Given the description of an element on the screen output the (x, y) to click on. 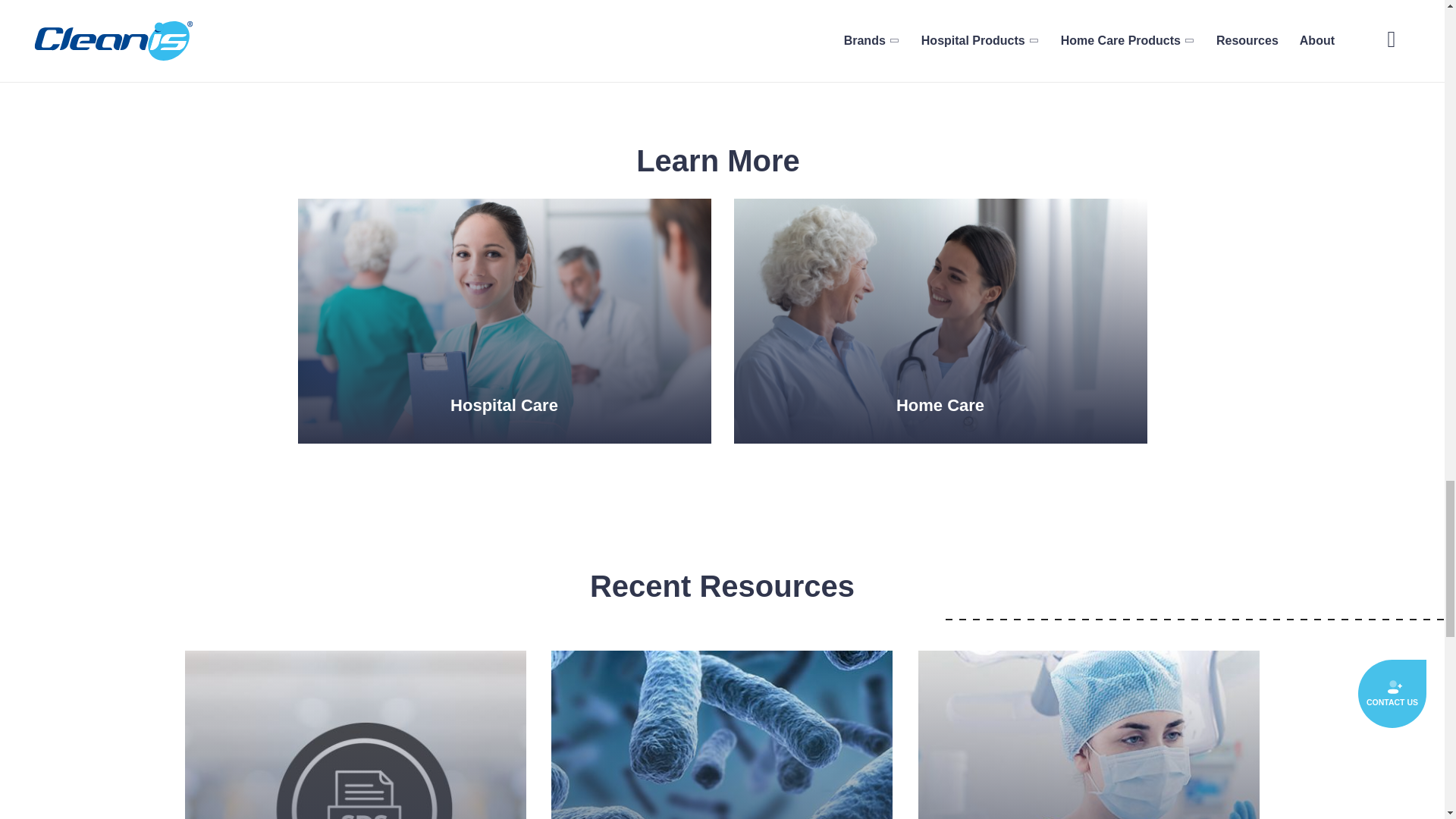
Hospital Care (503, 321)
Home Care (940, 321)
